Given the description of an element on the screen output the (x, y) to click on. 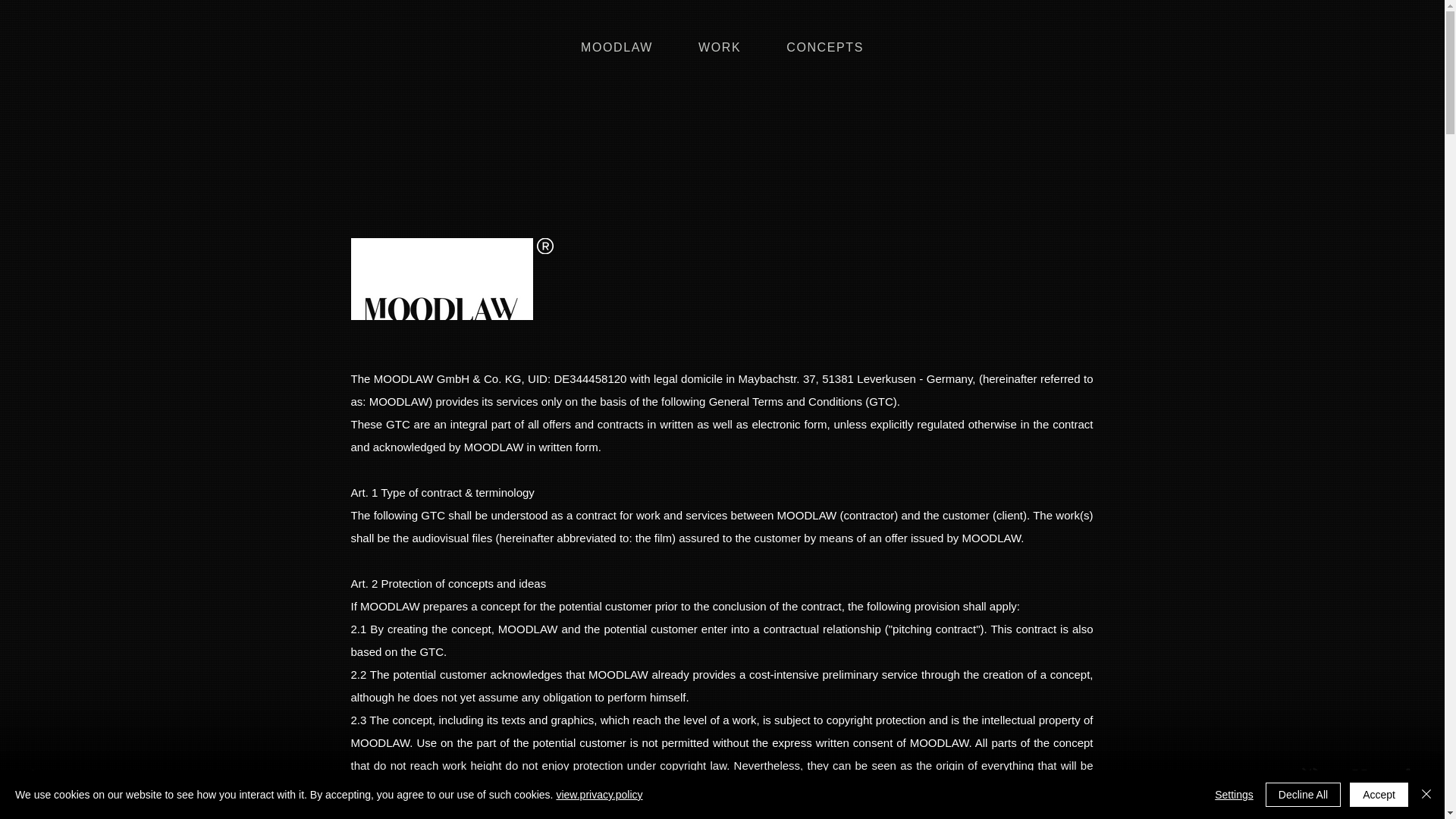
view.privacy.policy (599, 794)
CONCEPTS (824, 47)
Decline All (1302, 794)
MOODLAW (616, 47)
WORK (718, 47)
Accept (1378, 794)
